Given the description of an element on the screen output the (x, y) to click on. 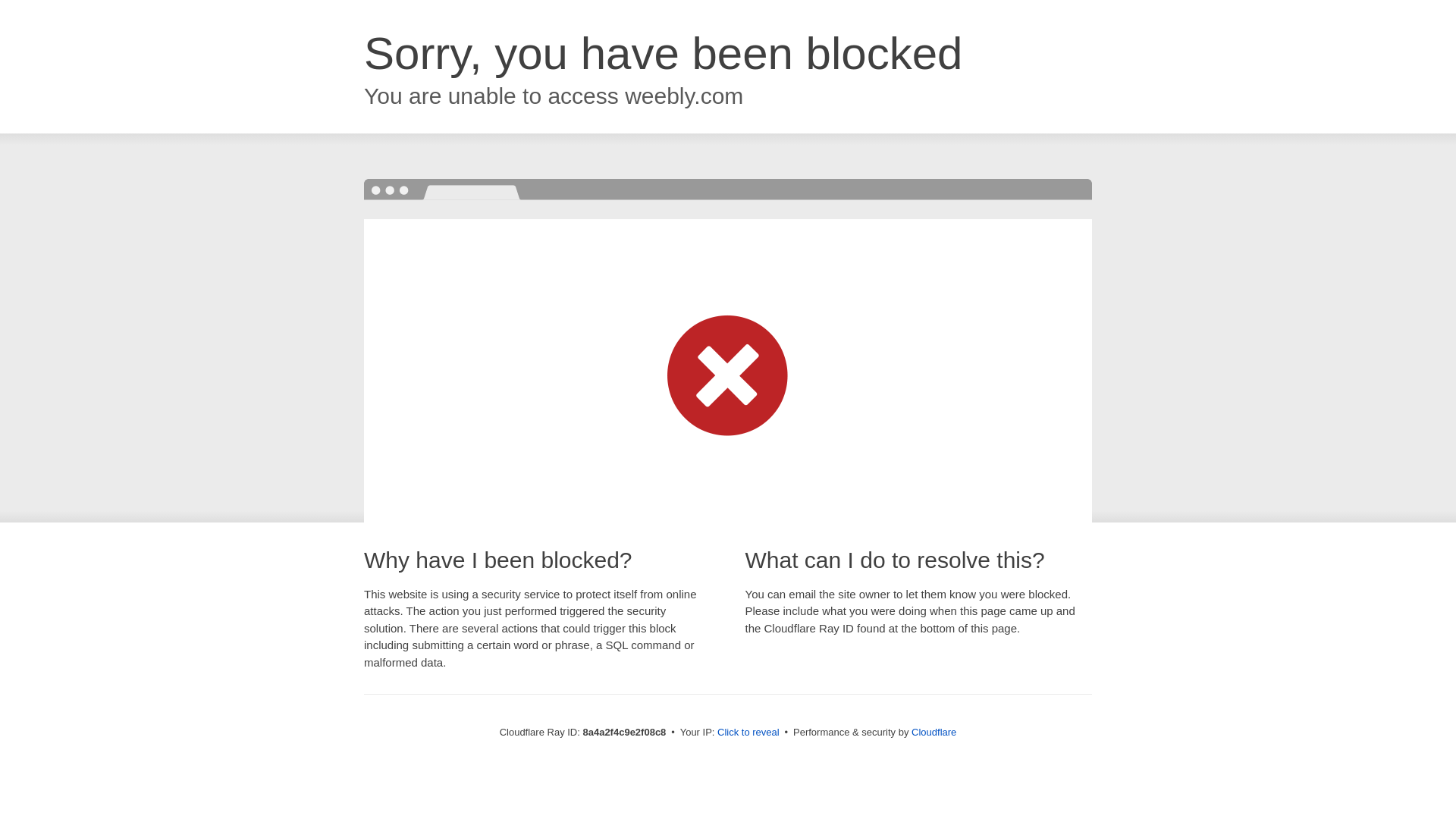
Click to reveal (747, 732)
Cloudflare (933, 731)
